Given the description of an element on the screen output the (x, y) to click on. 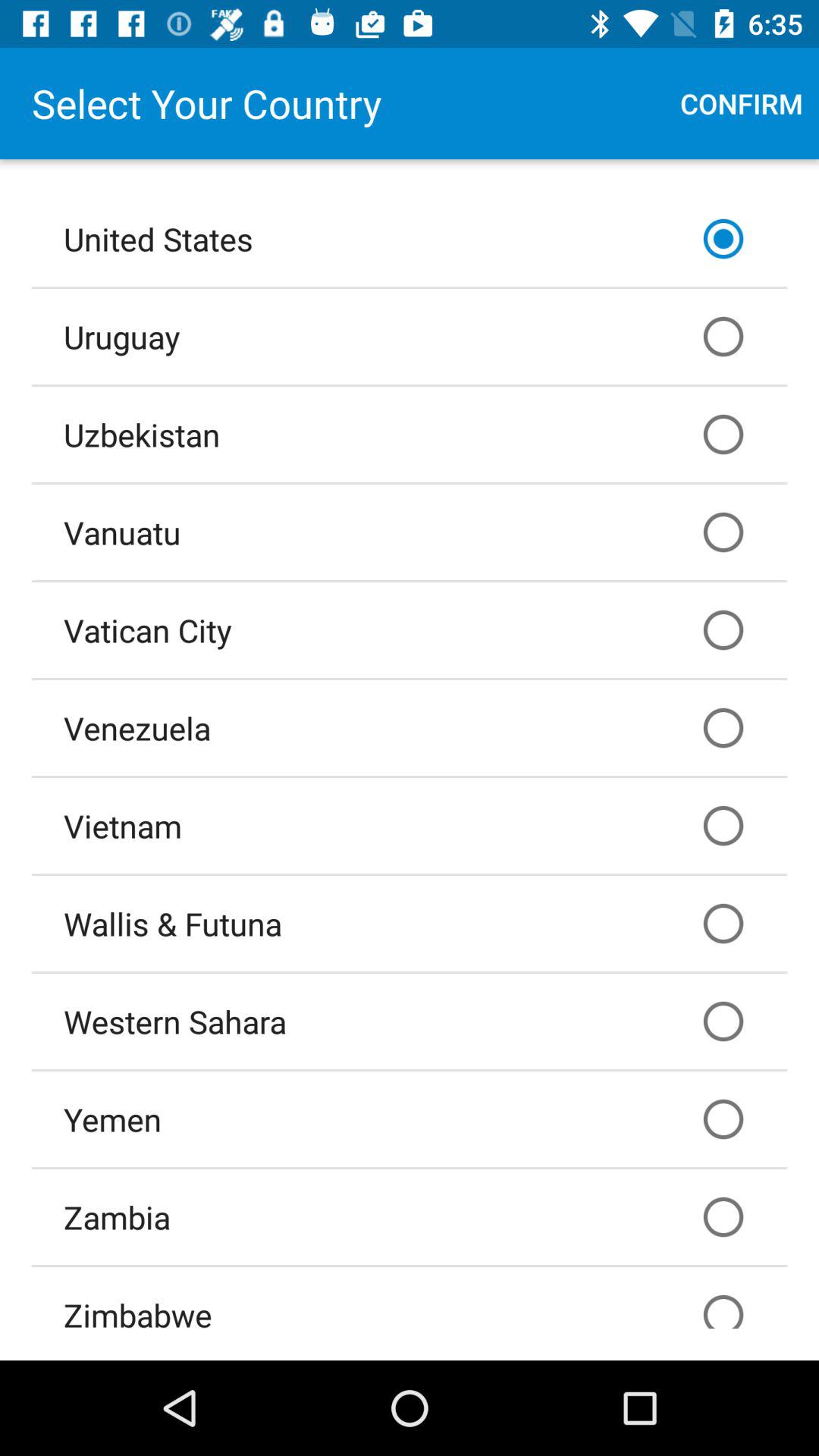
click united states icon (409, 238)
